Given the description of an element on the screen output the (x, y) to click on. 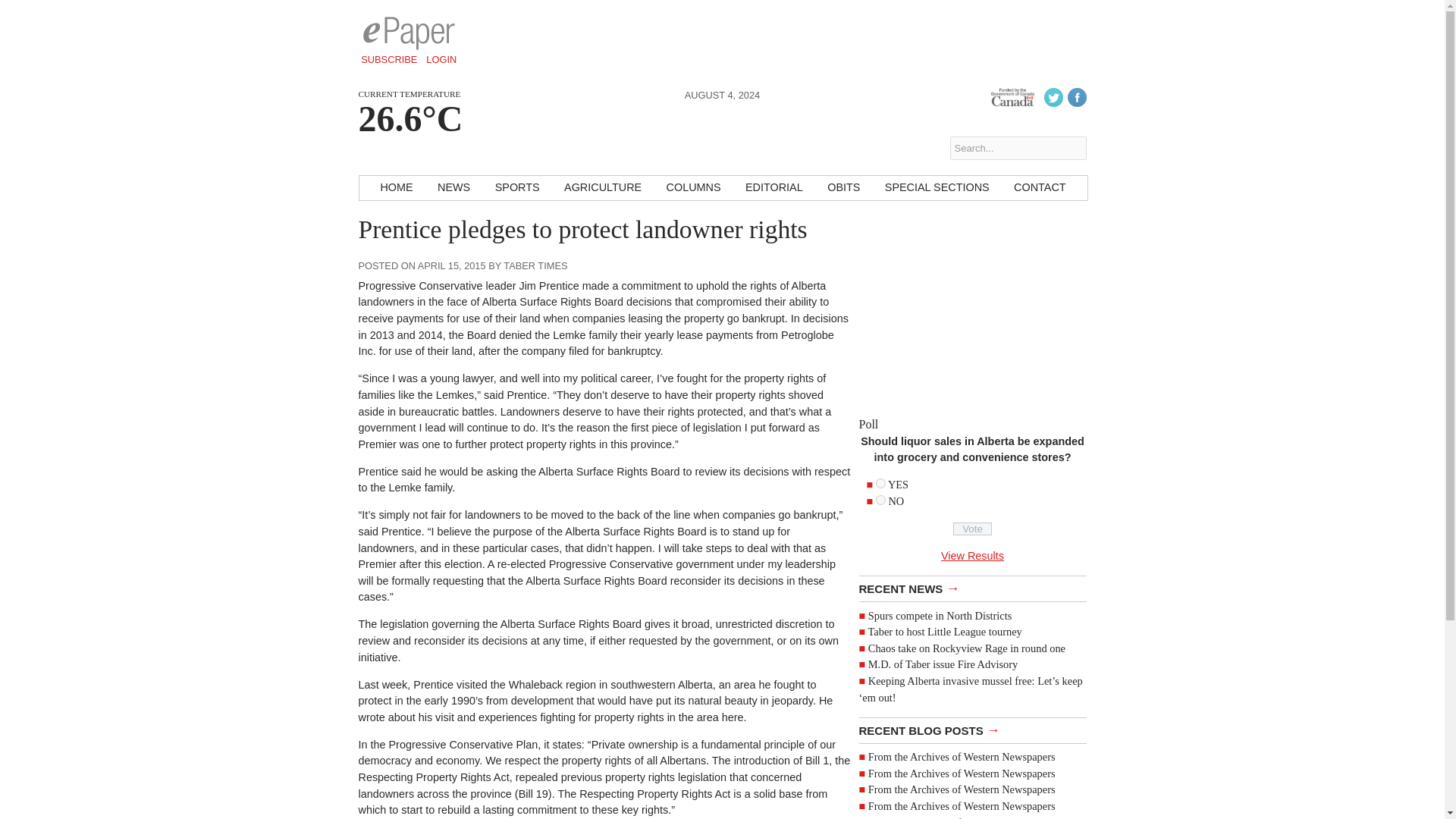
CONTACT (1039, 187)
528 (880, 500)
From the Archives of Western Newspapers (961, 817)
527 (880, 483)
NEWS (453, 187)
Taber to host Little League tourney (944, 631)
Spurs compete in North Districts (939, 615)
COLUMNS (694, 187)
SUBSCRIBE (389, 58)
SPORTS (517, 187)
   Vote    (972, 528)
AGRICULTURE (602, 187)
From the Archives of Western Newspapers (961, 773)
From the Archives of Western Newspapers (961, 788)
OBITS (843, 187)
